Given the description of an element on the screen output the (x, y) to click on. 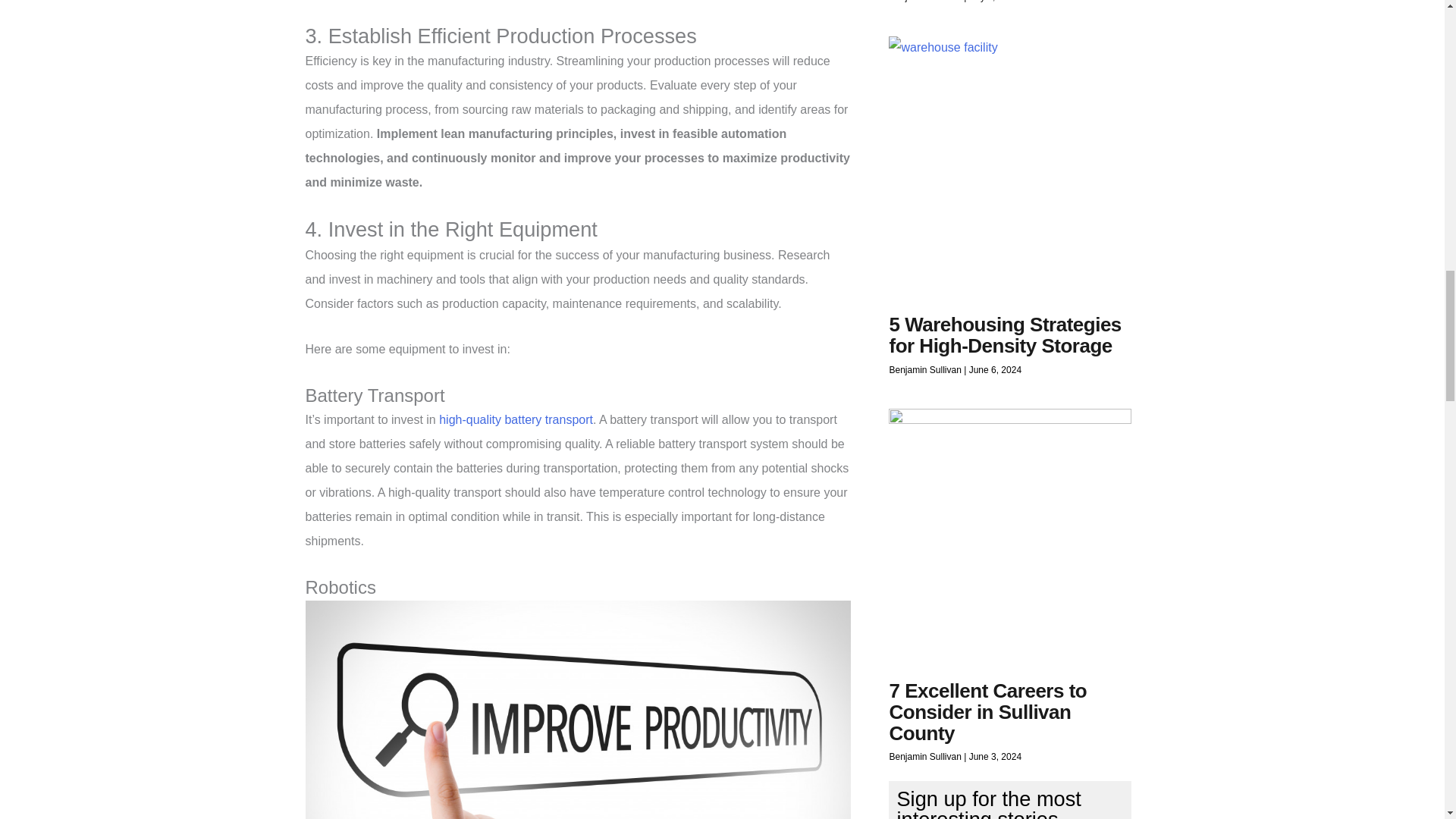
5 Warehousing Strategies for High-Density Storage (1004, 334)
high-quality battery transport (515, 419)
improve productivity in search bar (577, 709)
7 Excellent Careers to Consider in Sullivan County (987, 711)
